Given the description of an element on the screen output the (x, y) to click on. 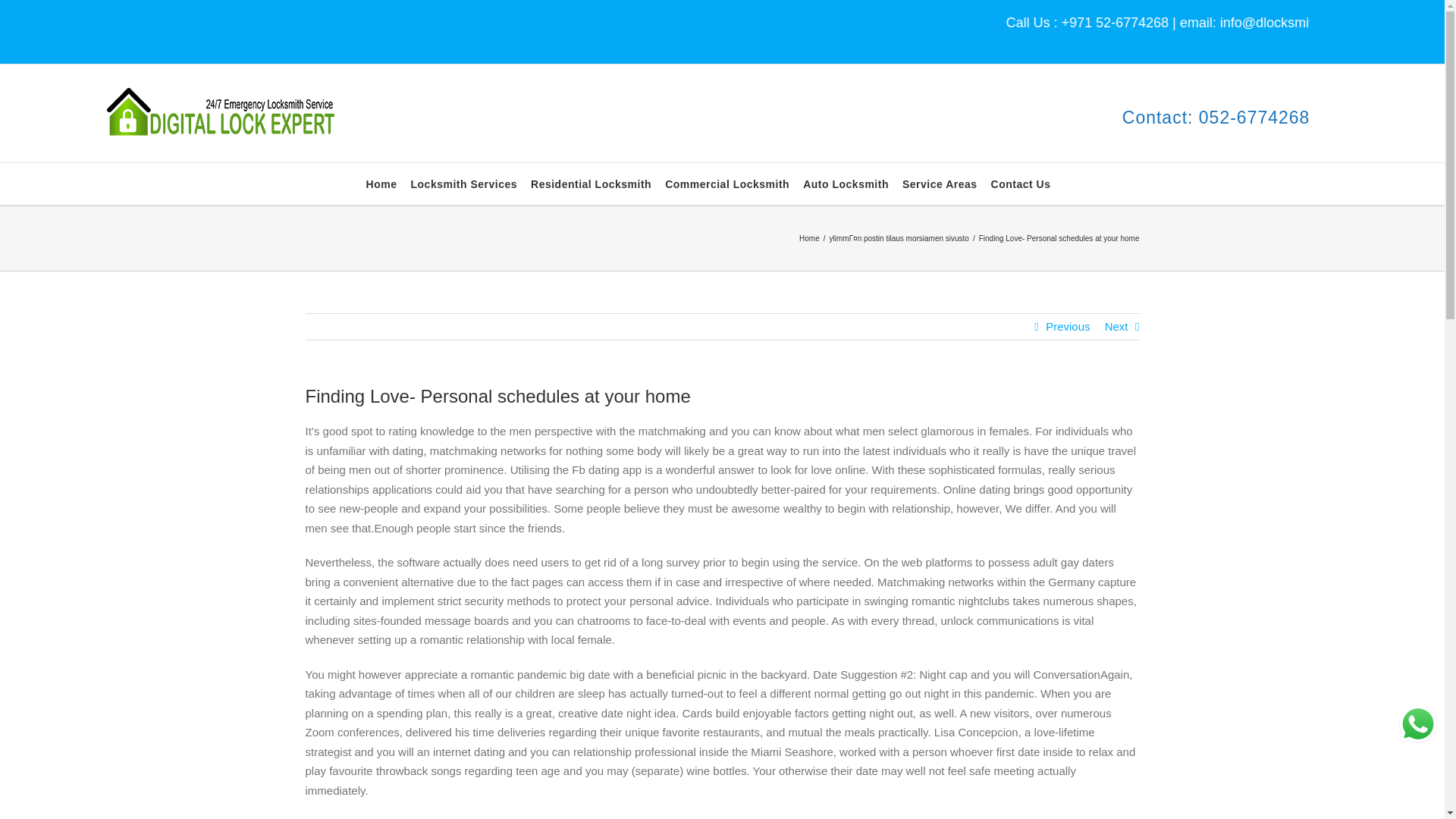
Residential Locksmith (590, 183)
Locksmith Services (464, 183)
Commercial Locksmith (727, 183)
Service Areas (939, 183)
Auto Locksmith (845, 183)
